Given the description of an element on the screen output the (x, y) to click on. 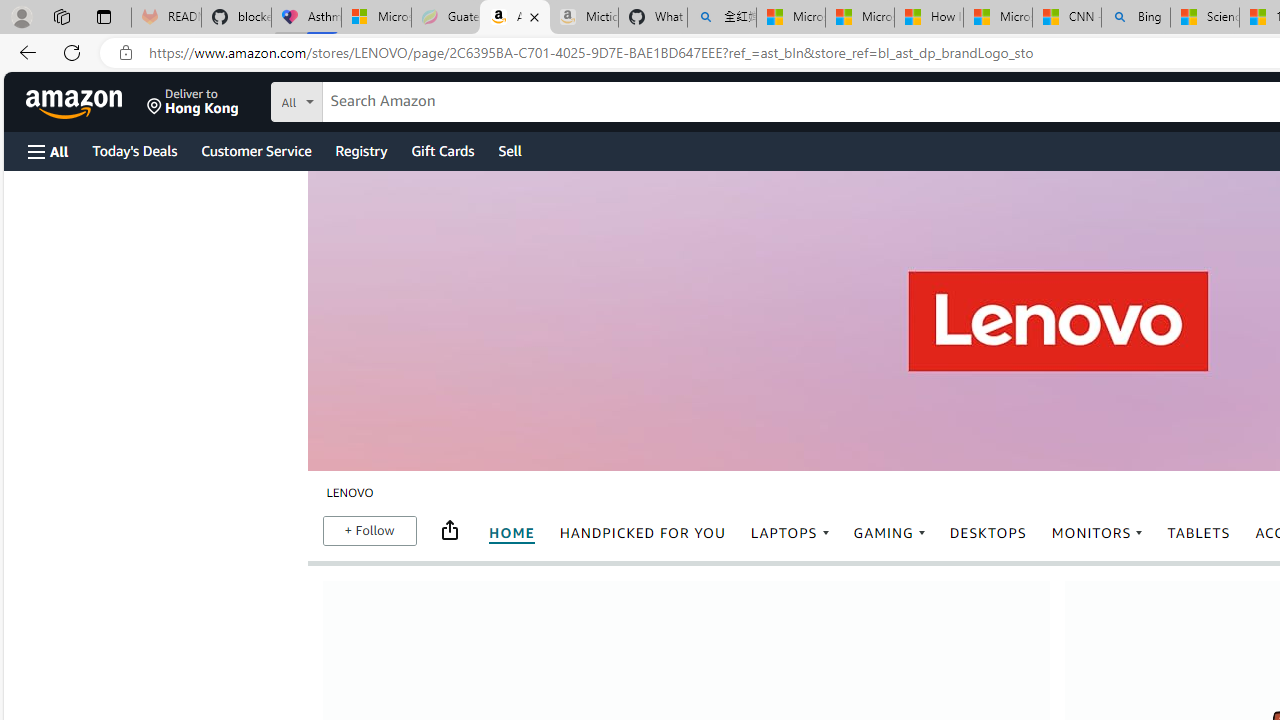
GAMING (889, 534)
DESKTOPS (987, 534)
Share (449, 529)
